Given the description of an element on the screen output the (x, y) to click on. 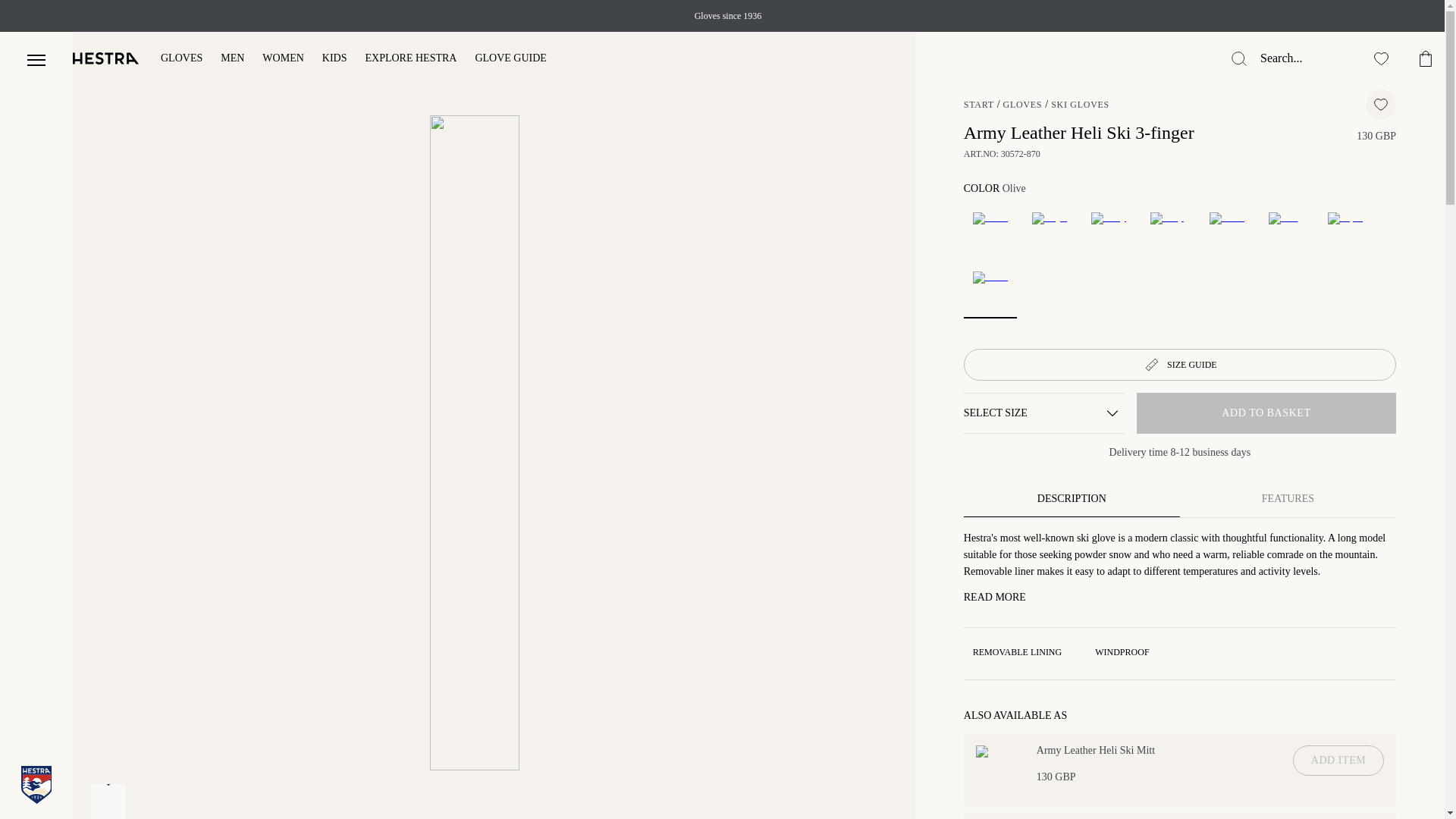
FEATURES (1287, 498)
GLOVES (1022, 104)
READ MORE (994, 597)
Image displaying the Hestra logotype (105, 57)
ADD ITEM (1338, 760)
Army Leather Heli Ski Mitt (1000, 766)
Army Leather Heli Ski Mitt (1095, 750)
START (978, 104)
MEN (232, 58)
Search... (1302, 57)
